Given the description of an element on the screen output the (x, y) to click on. 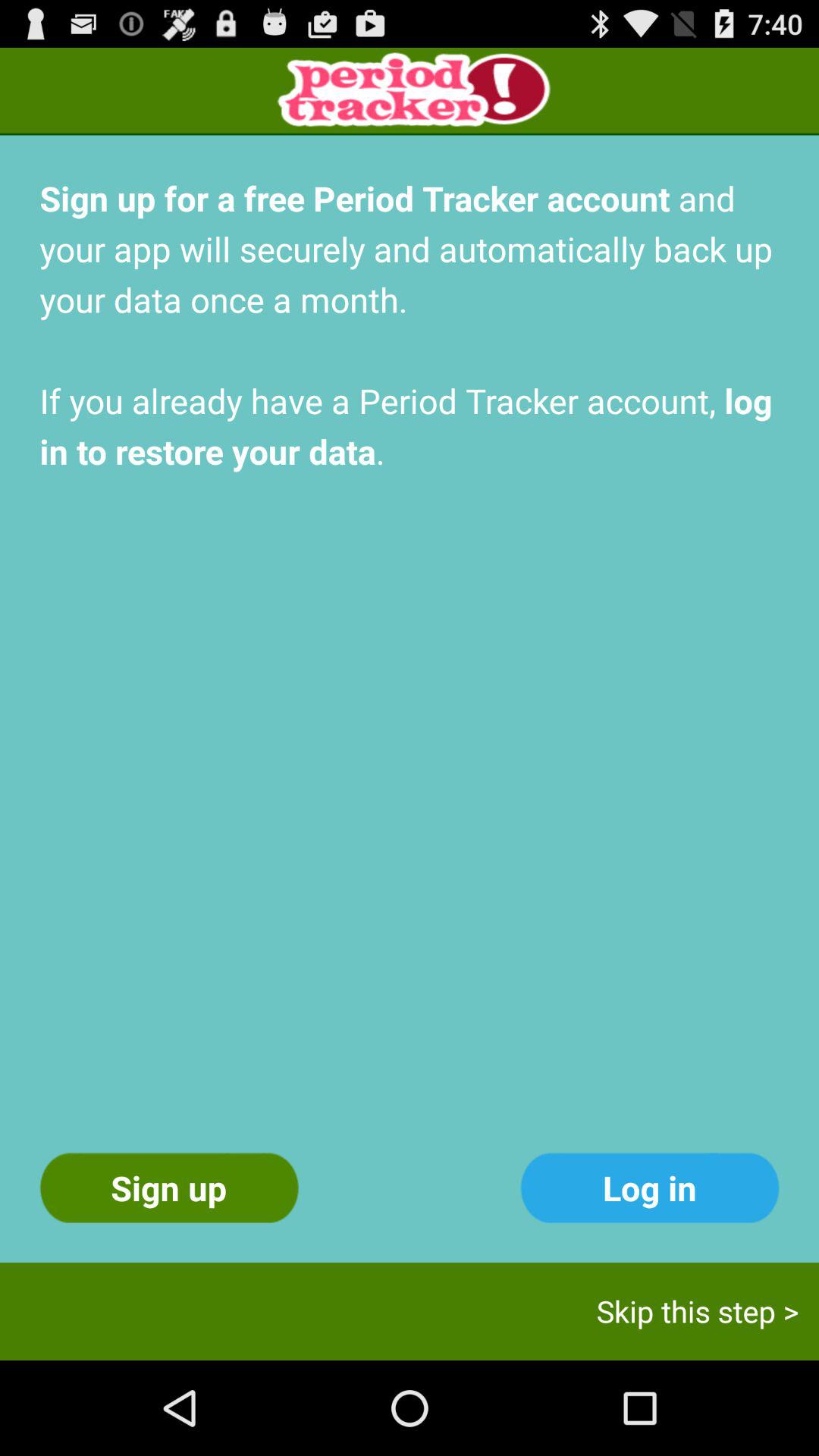
swipe until the log in icon (649, 1187)
